Given the description of an element on the screen output the (x, y) to click on. 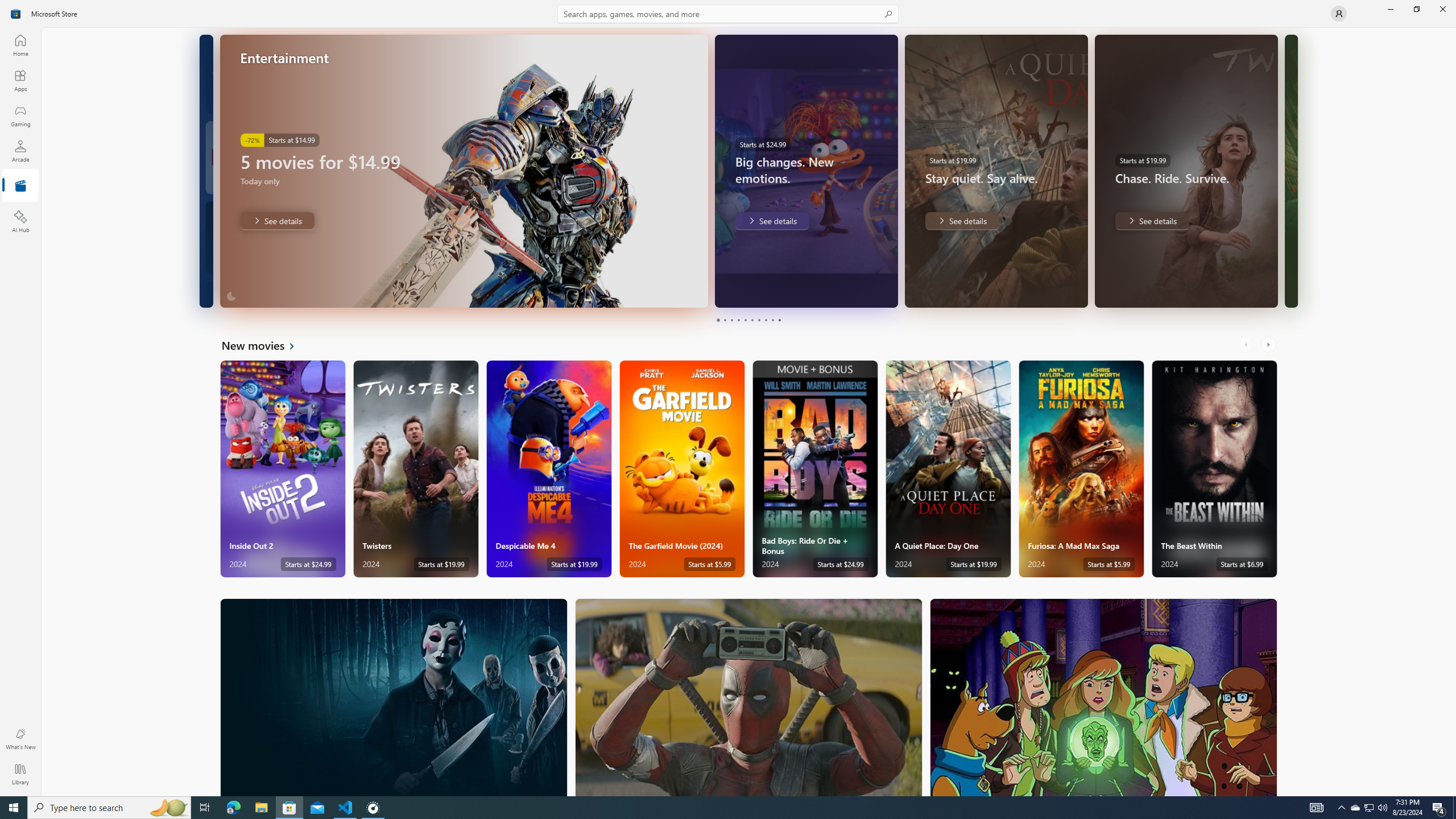
Restore Microsoft Store (1416, 9)
Minimize Microsoft Store (1390, 9)
The Beast Within. Starts at $6.99   (1213, 469)
Horror (393, 697)
Page 8 (764, 319)
The Garfield Movie (2024). Starts at $5.99   (681, 469)
Search (727, 13)
AutomationID: PosterImage (1103, 697)
Page 4 (738, 319)
Pager (748, 319)
Page 10 (779, 319)
Gaming (20, 115)
Unmute (881, 291)
